Given the description of an element on the screen output the (x, y) to click on. 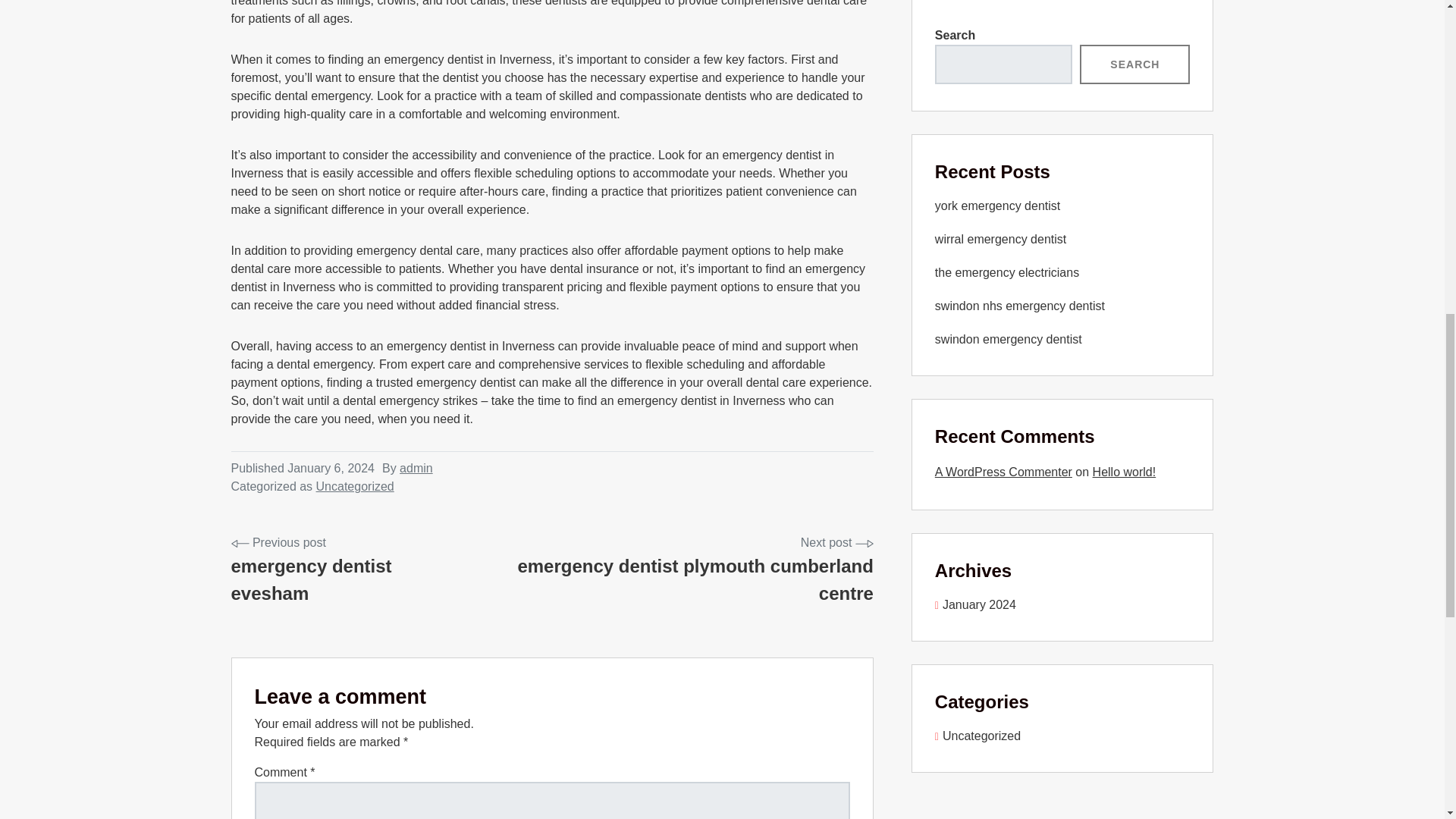
admin (415, 468)
A WordPress Commenter (1002, 472)
swindon emergency dentist (1007, 338)
york emergency dentist (996, 205)
swindon nhs emergency dentist (1019, 305)
January 2024 (975, 604)
Uncategorized (673, 570)
the emergency electricians (977, 735)
SEARCH (1006, 272)
